Given the description of an element on the screen output the (x, y) to click on. 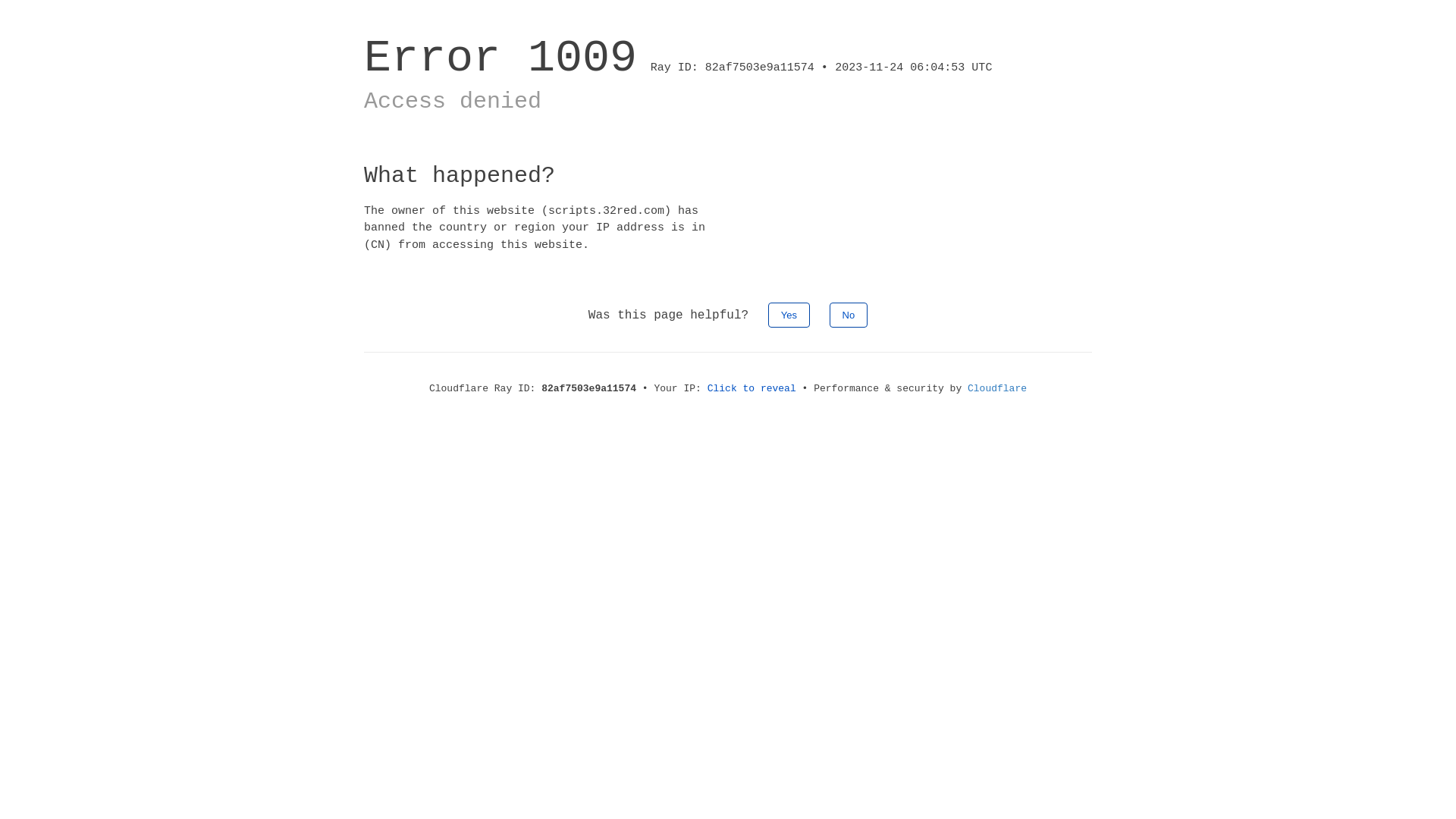
No Element type: text (848, 314)
Cloudflare Element type: text (996, 388)
Yes Element type: text (788, 314)
Click to reveal Element type: text (751, 388)
